Given the description of an element on the screen output the (x, y) to click on. 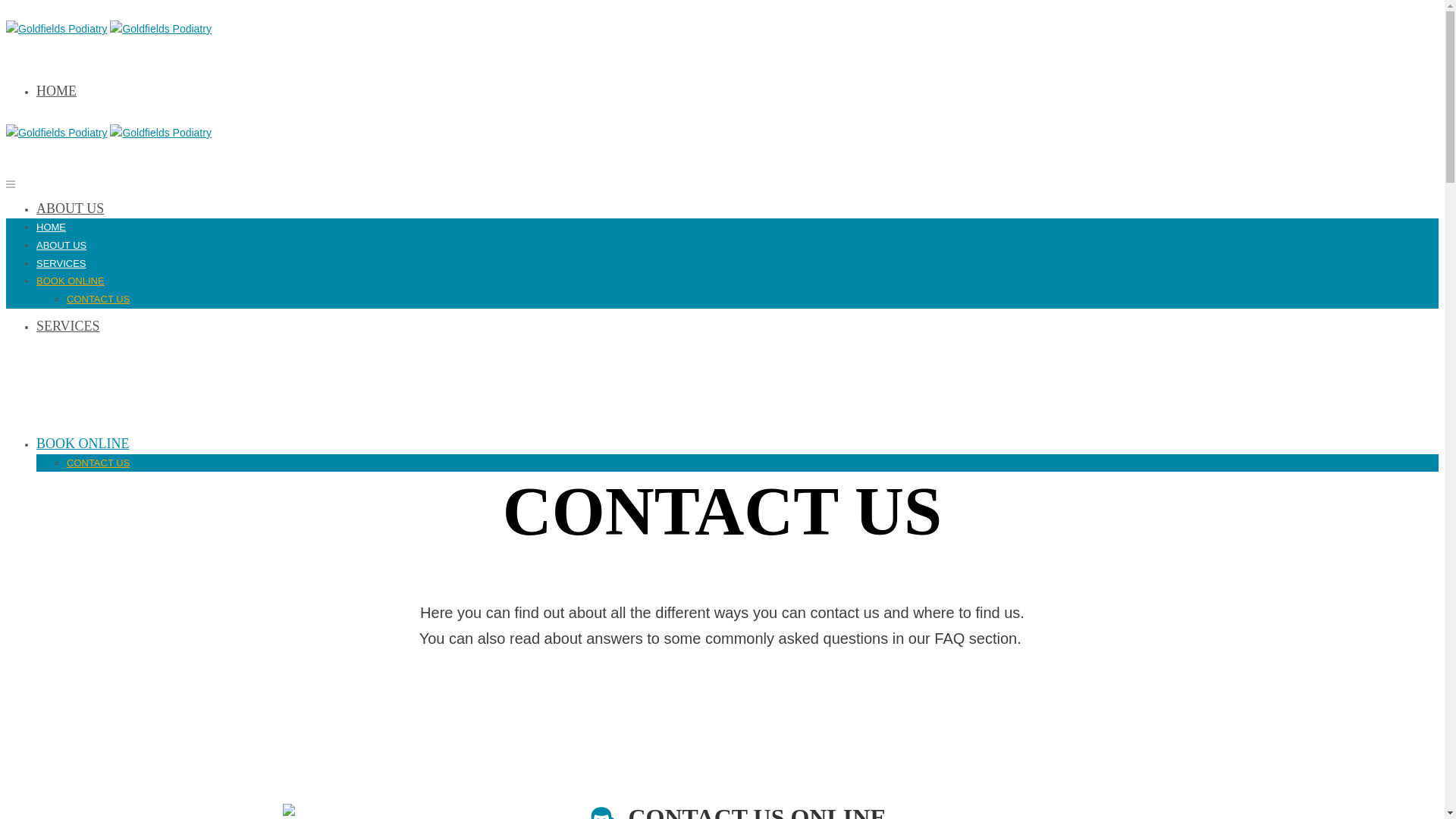
CONTACT US Element type: text (97, 462)
SERVICES Element type: text (68, 325)
HOME Element type: text (56, 90)
CONTACT US Element type: text (97, 298)
ABOUT US Element type: text (69, 208)
BOOK ONLINE Element type: text (82, 443)
BOOK ONLINE Element type: text (70, 280)
SERVICES Element type: text (61, 263)
HOME Element type: text (50, 226)
ABOUT US Element type: text (61, 245)
